Given the description of an element on the screen output the (x, y) to click on. 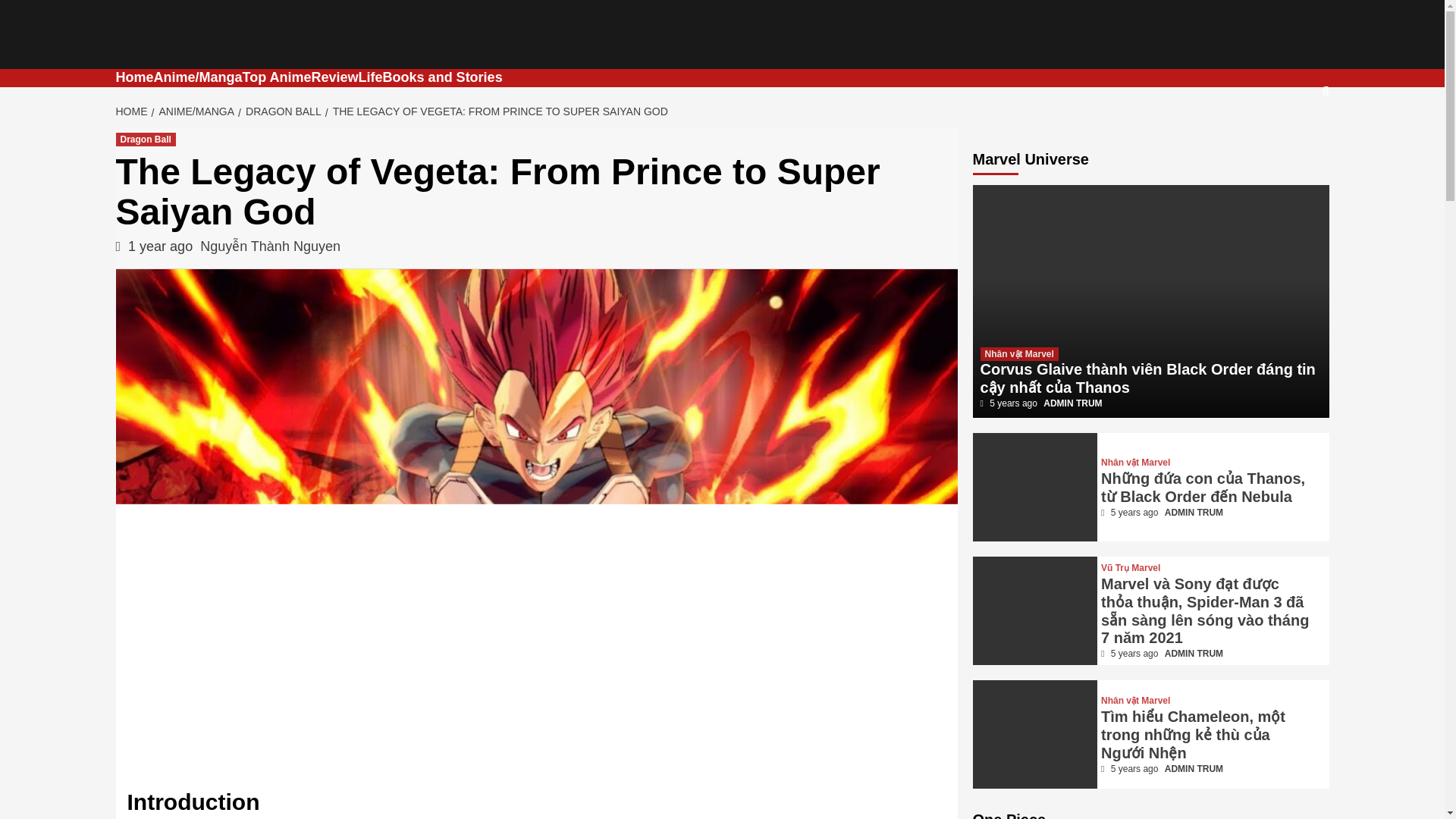
Life (370, 77)
Books and Stories (442, 77)
Top Anime (277, 77)
THE LEGACY OF VEGETA: FROM PRINCE TO SUPER SAIYAN GOD (497, 111)
Home (133, 77)
DRAGON BALL (281, 111)
HOME (133, 111)
Review (334, 77)
Dragon Ball (144, 139)
